Given the description of an element on the screen output the (x, y) to click on. 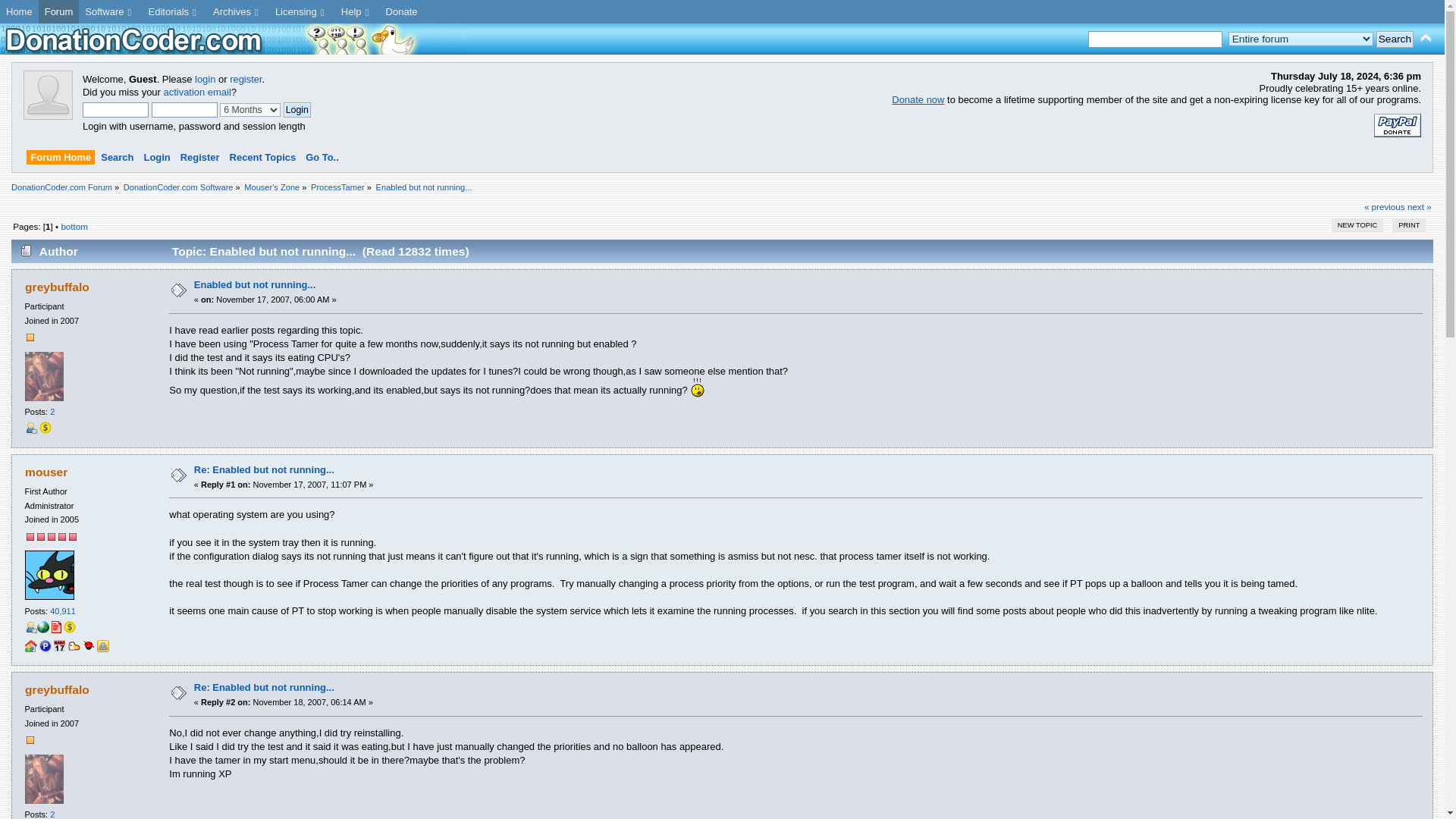
Home (19, 11)
Archives (237, 11)
click to register on the forum (47, 116)
gathering badge (30, 648)
View the profile of greybuffalo (56, 689)
cody badge (74, 648)
Login (297, 109)
Read more about this member. (55, 626)
Shrink or expand the header. (1425, 38)
View Profile (30, 626)
Software (109, 11)
Search (1394, 39)
Editorials (174, 11)
View the profile of mouser (45, 472)
Donate to Member (69, 626)
